Given the description of an element on the screen output the (x, y) to click on. 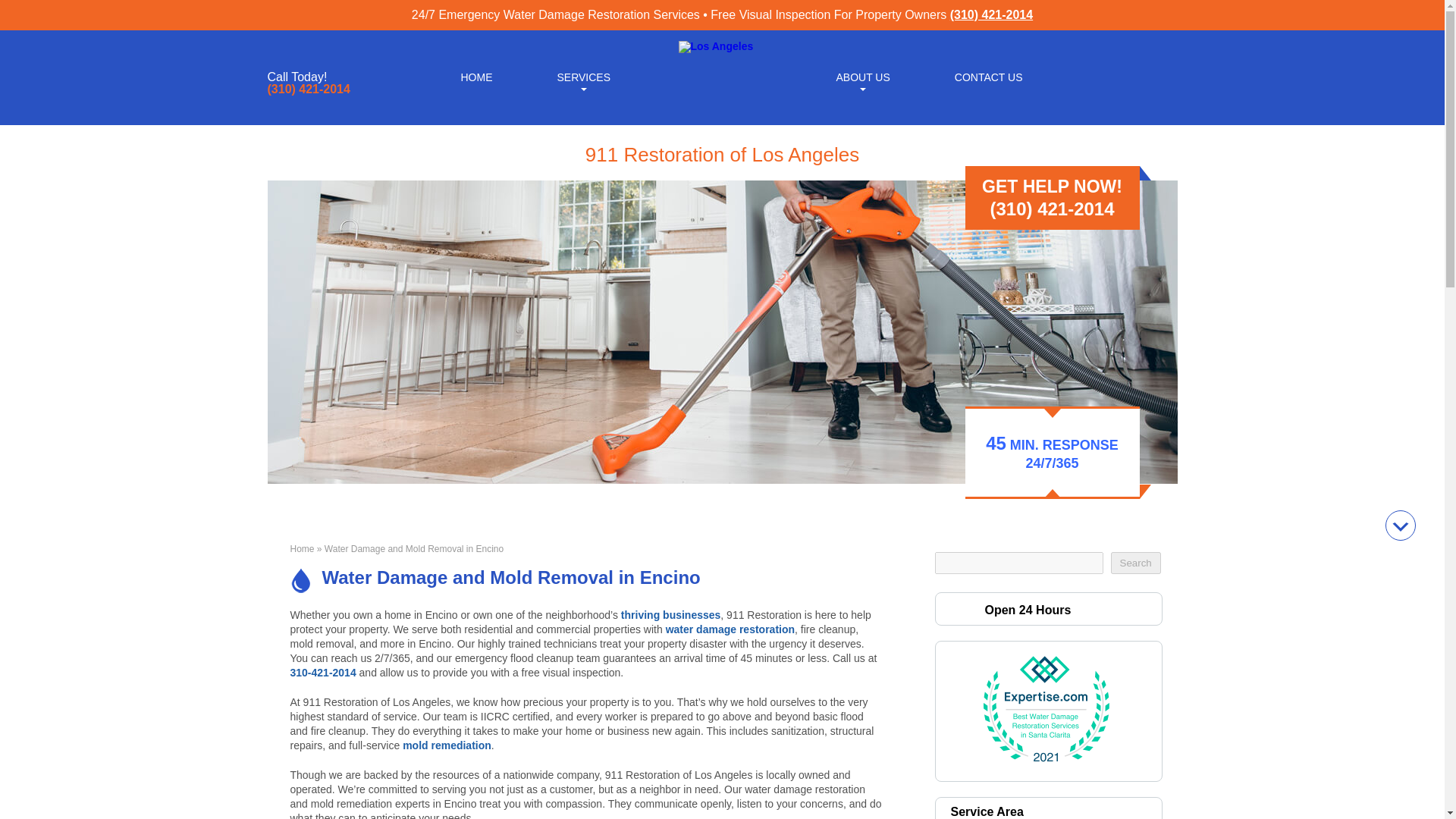
Search (1134, 563)
911 Water Damage Restoration Logo (715, 45)
CONTACT US (988, 76)
SERVICES (582, 76)
Go to Los Angeles. (301, 548)
ABOUT US (862, 76)
HOME (476, 76)
Scroll to Down (1400, 525)
